Given the description of an element on the screen output the (x, y) to click on. 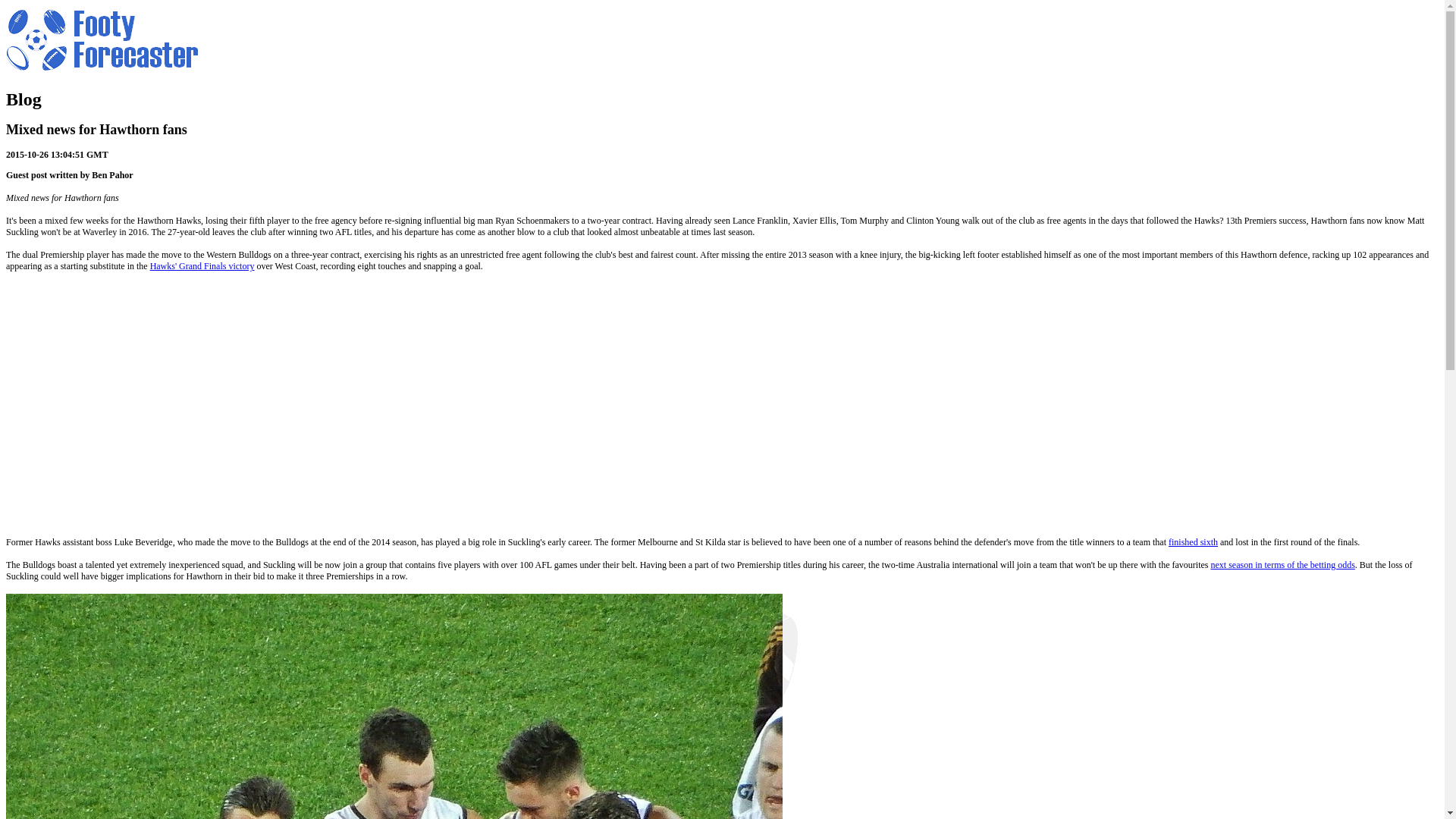
Hawks' Grand Finals victory (201, 266)
next season in terms of the betting odds (1281, 564)
finished sixth (1193, 542)
